Given the description of an element on the screen output the (x, y) to click on. 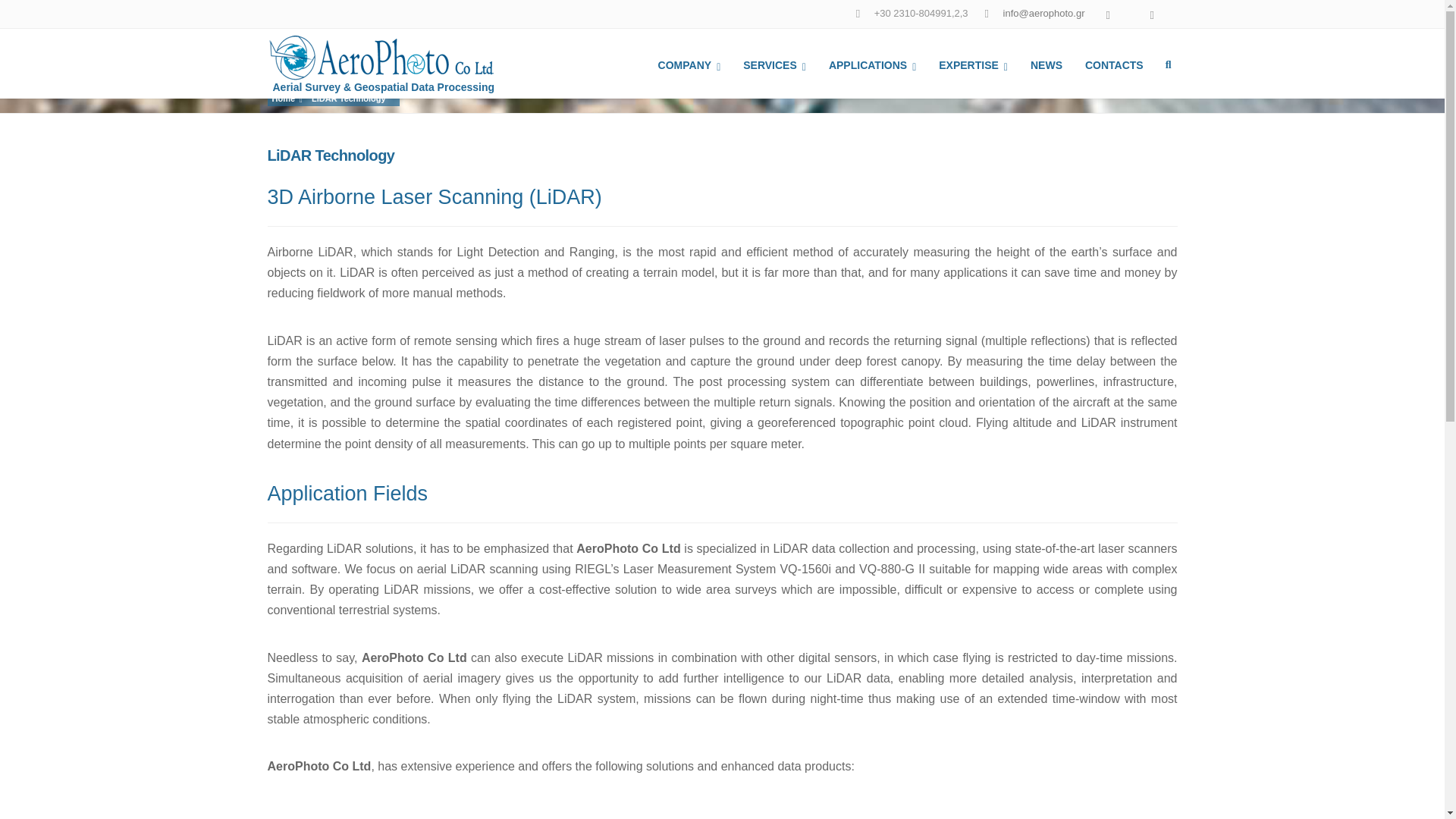
CONTACTS (1114, 63)
Cookies Policy (695, 788)
LiDAR Technology (350, 98)
LinkedIn (1114, 15)
Certification for QMS of ISO 9001:2015 Standard (756, 649)
MentalMedia.gr (501, 788)
APPLICATIONS (871, 63)
SERVICES (774, 63)
EXPERTISE (973, 63)
COMPANY (689, 63)
